Given the description of an element on the screen output the (x, y) to click on. 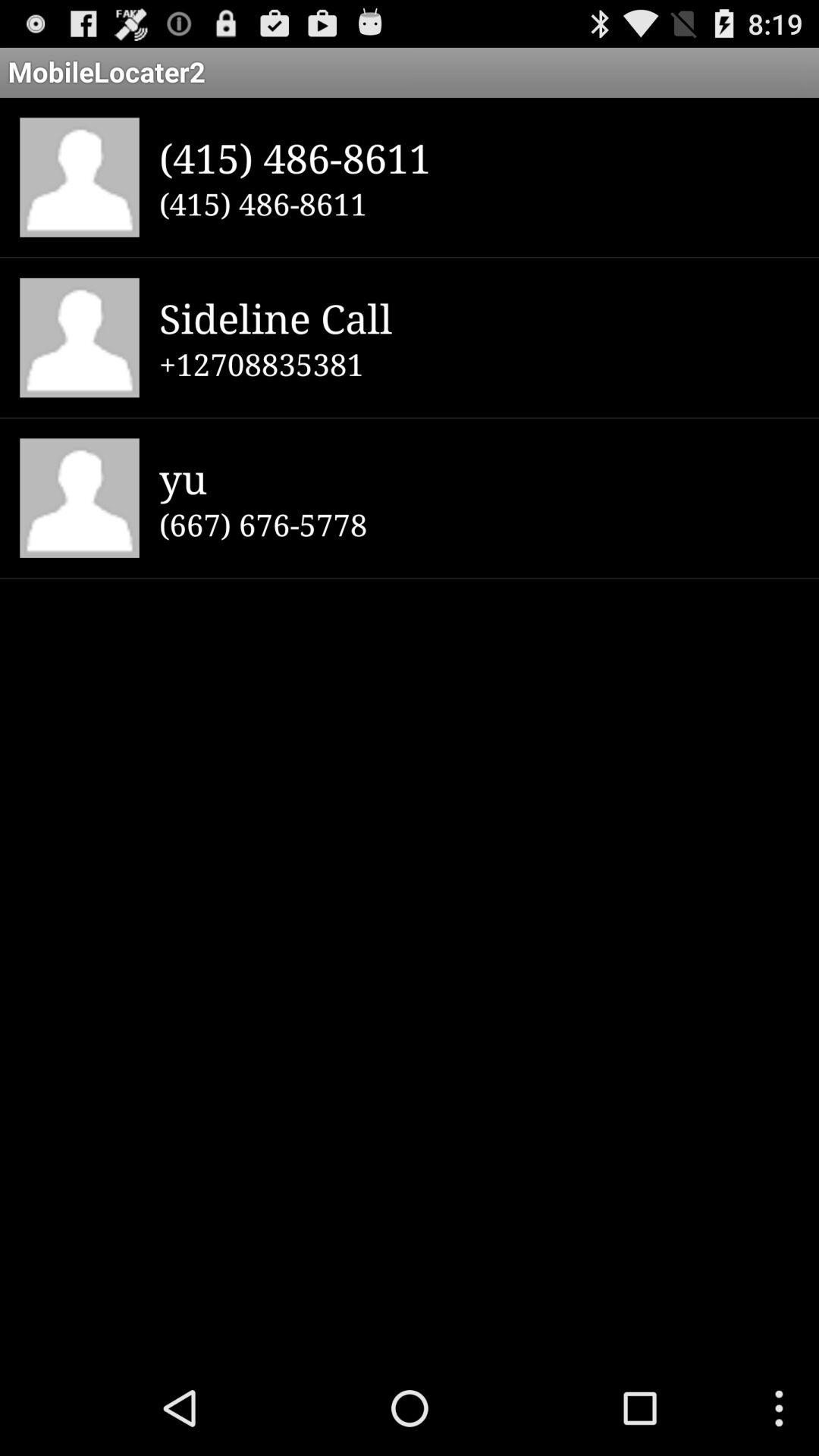
turn off item below sideline call item (479, 363)
